Given the description of an element on the screen output the (x, y) to click on. 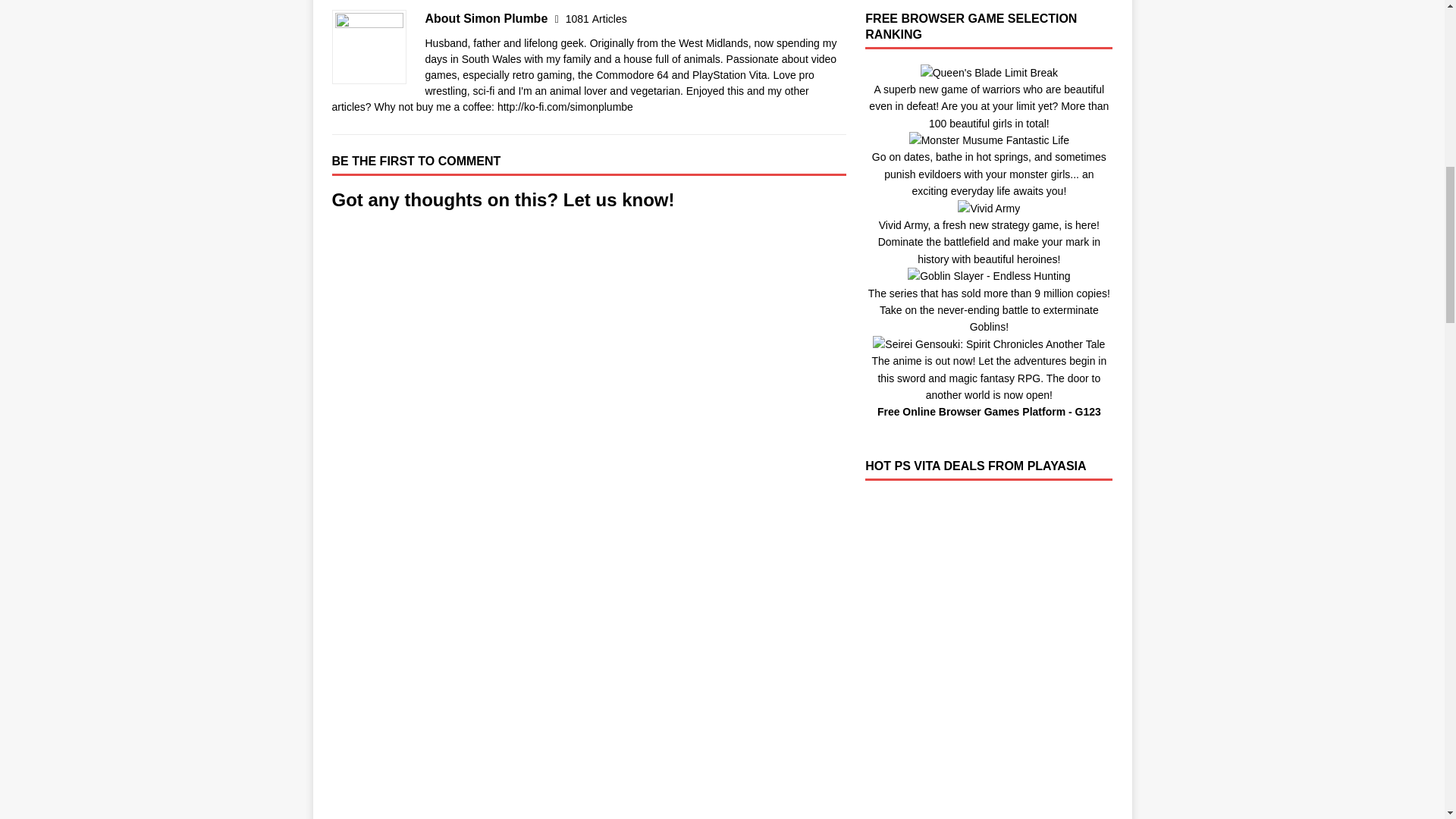
More articles written by Simon Plumbe' (596, 19)
